Given the description of an element on the screen output the (x, y) to click on. 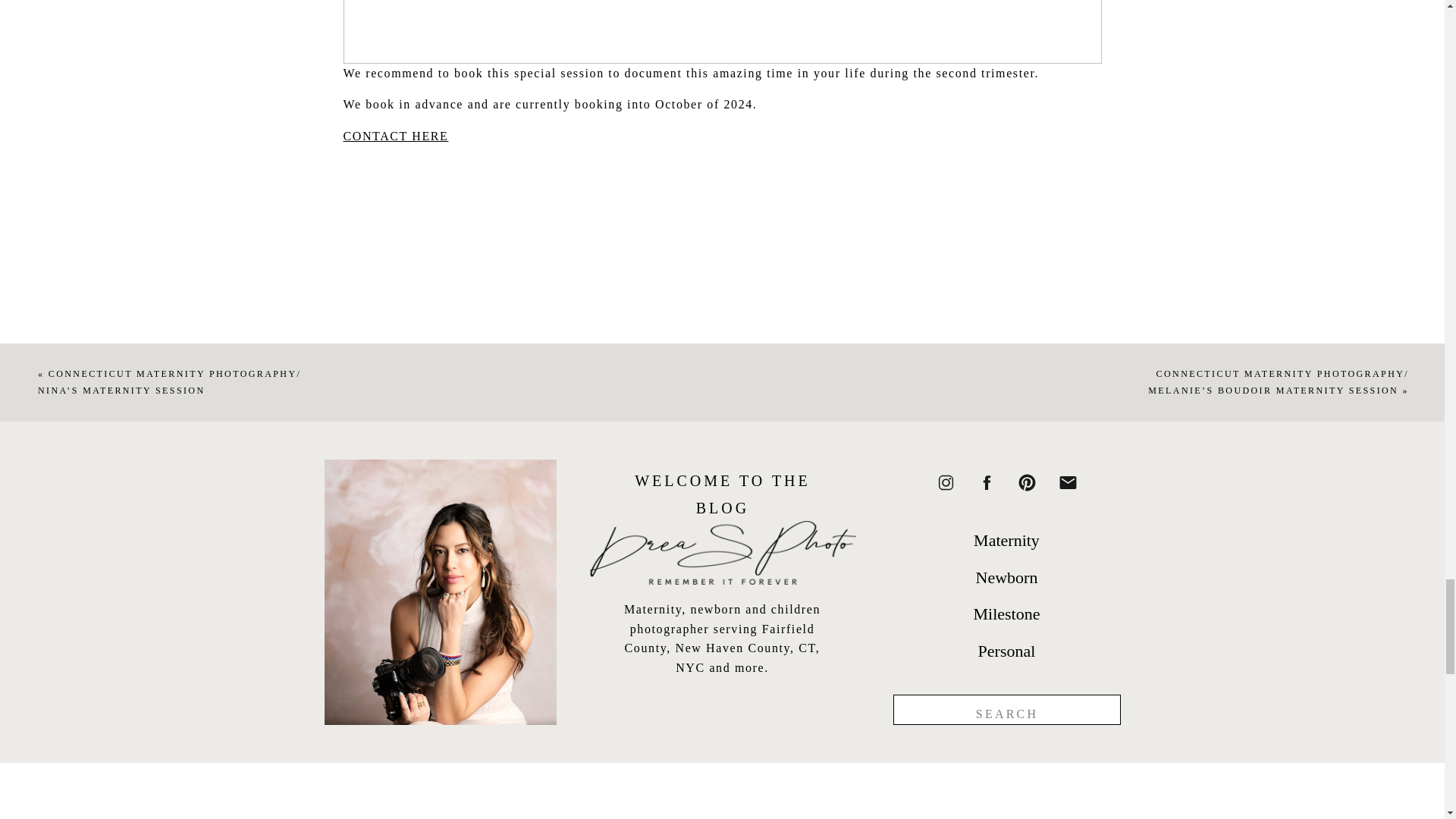
Milestone (1007, 613)
CONTACT HERE (395, 135)
Maternity (1007, 539)
Personal (1007, 650)
Newborn (1007, 576)
